Given the description of an element on the screen output the (x, y) to click on. 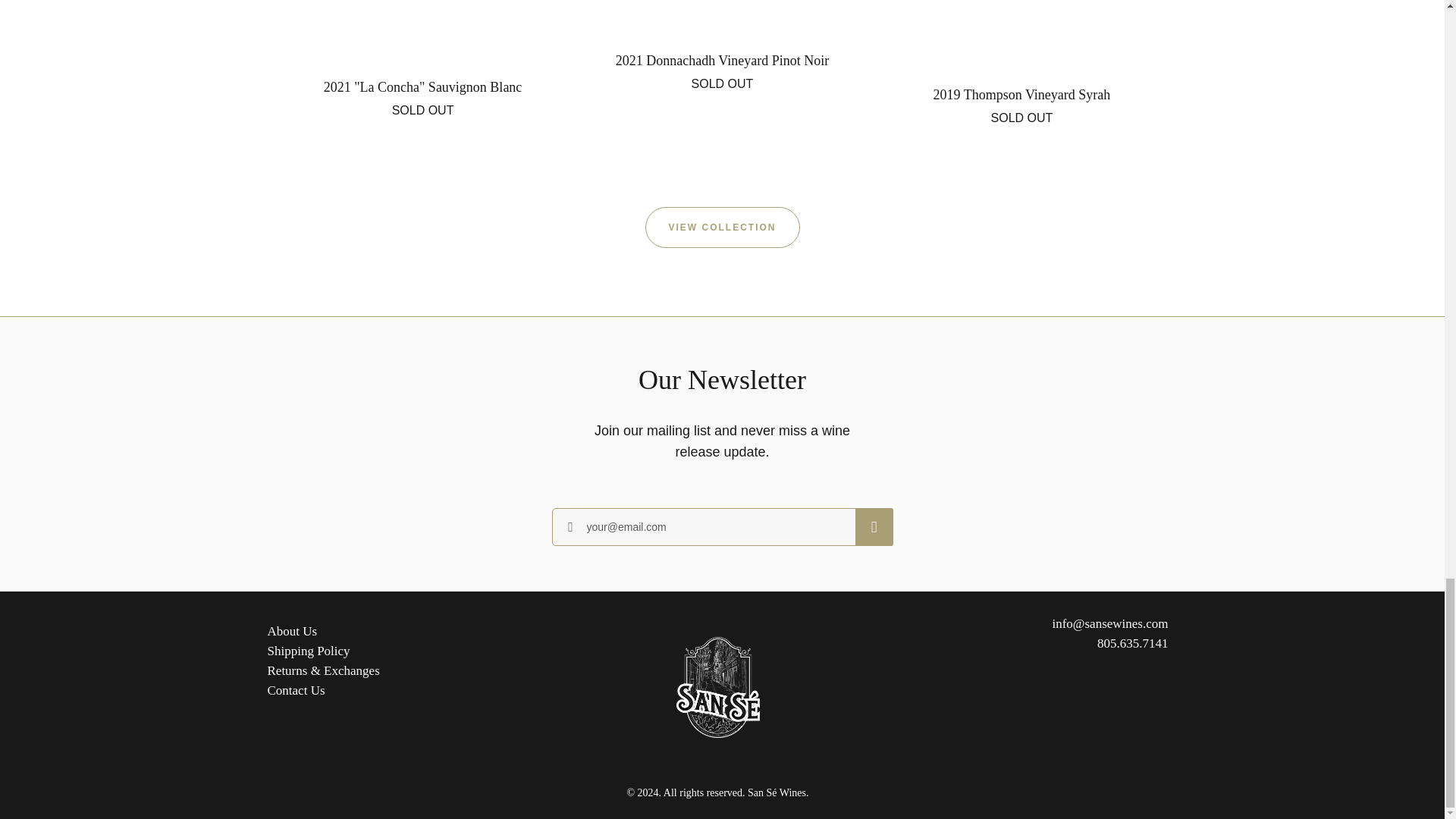
About Us (291, 631)
Subscribe (874, 526)
Shipping Policy (307, 650)
Contact Us (1021, 74)
VIEW COLLECTION (421, 71)
Subscribe (295, 690)
